Given the description of an element on the screen output the (x, y) to click on. 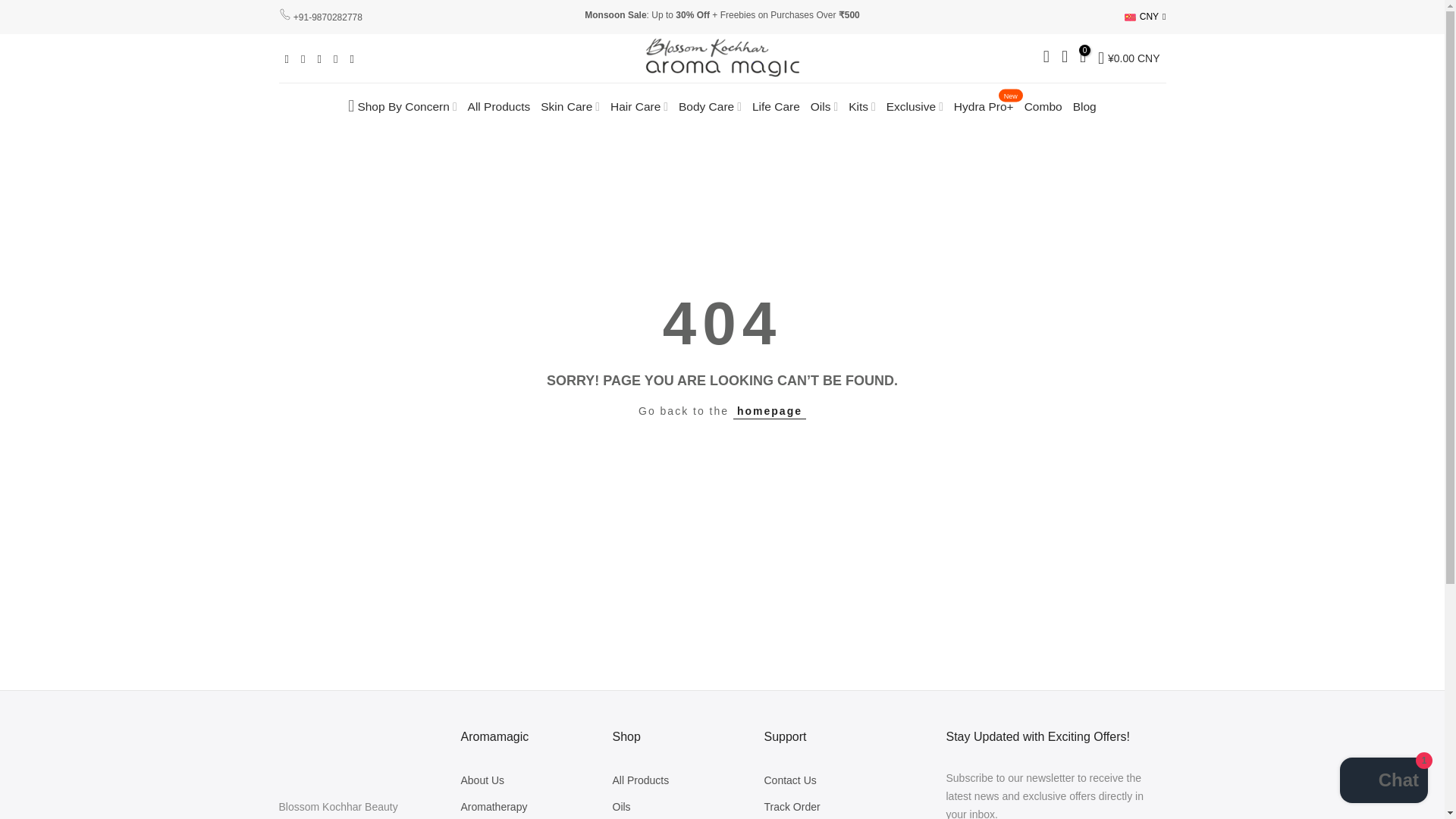
Skin Care (570, 105)
All Products (499, 105)
0 (1083, 57)
Shop By Concern (401, 105)
Shopify online store chat (1383, 781)
